Given the description of an element on the screen output the (x, y) to click on. 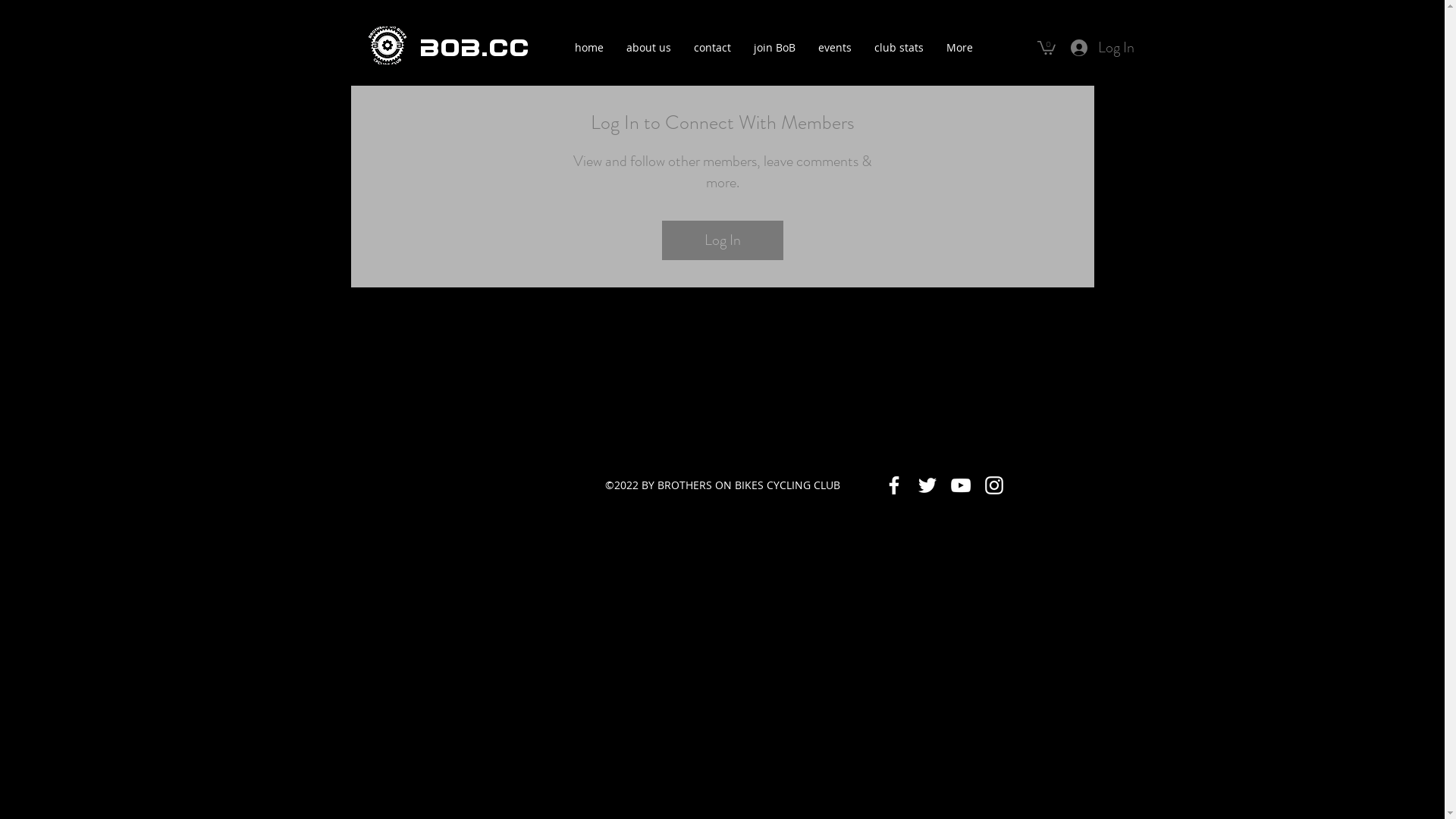
club stats Element type: text (898, 47)
Members Element type: hover (721, 186)
BOB.CC Element type: text (473, 47)
0 Element type: text (1046, 46)
Log In Element type: text (1102, 46)
contact Element type: text (712, 47)
home Element type: text (588, 47)
join BoB Element type: text (773, 47)
events Element type: text (834, 47)
about us Element type: text (647, 47)
